Given the description of an element on the screen output the (x, y) to click on. 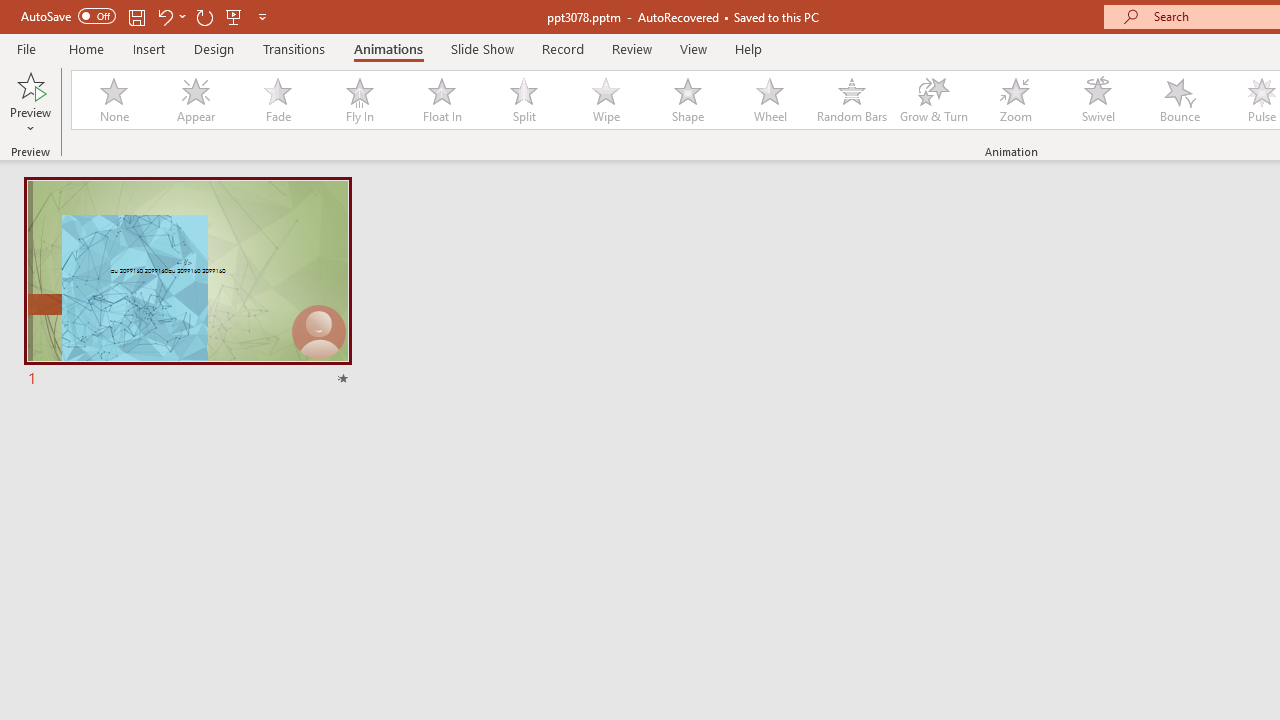
Grow & Turn (934, 100)
Swivel (1098, 100)
Bounce (1180, 100)
